Given the description of an element on the screen output the (x, y) to click on. 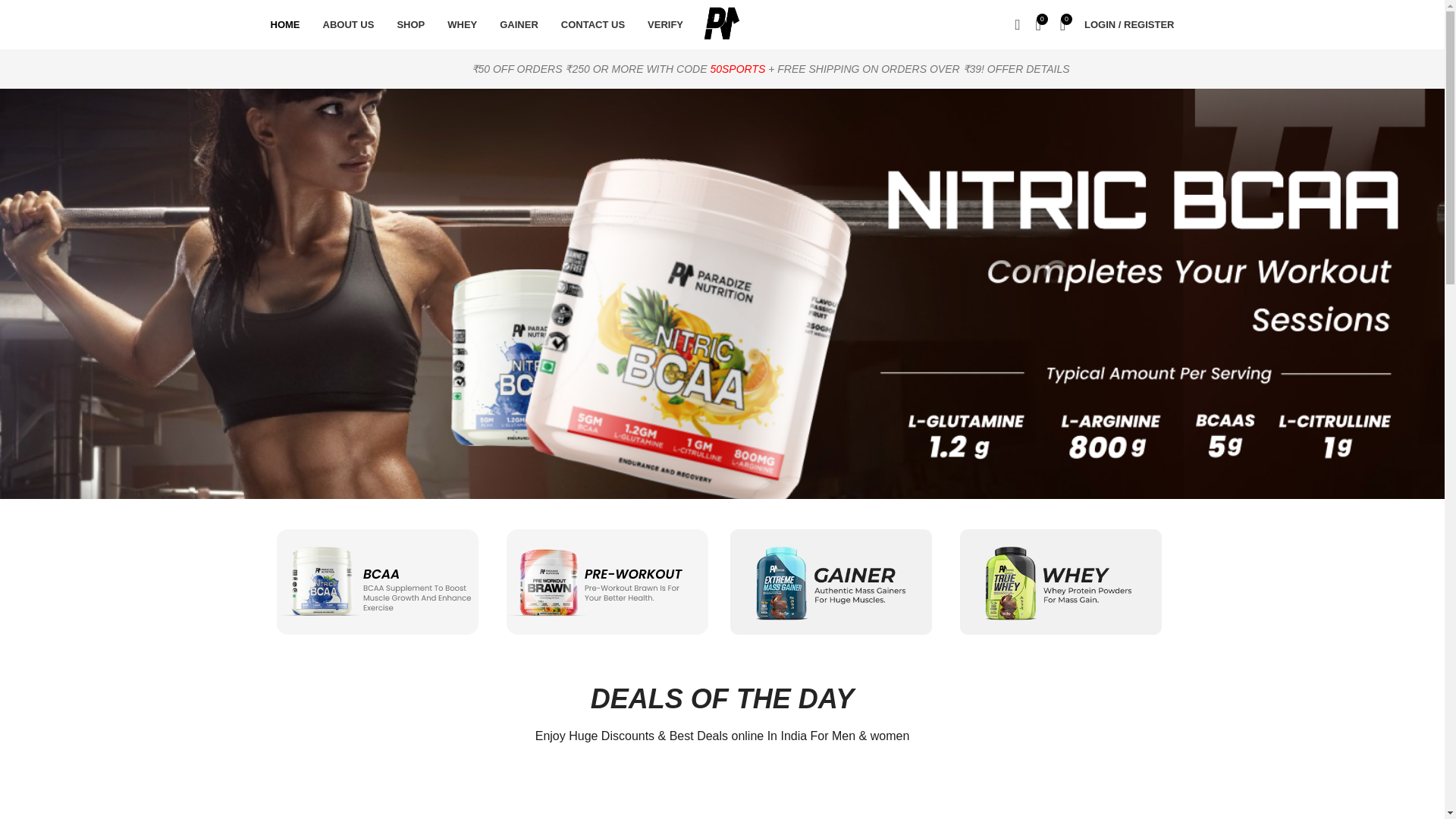
My account (1128, 24)
VERIFY (665, 24)
SHOP (410, 24)
GAINER (518, 24)
WHEY (461, 24)
Log in (1049, 265)
CONTACT US (593, 24)
HOME (285, 24)
ABOUT US (348, 24)
